Given the description of an element on the screen output the (x, y) to click on. 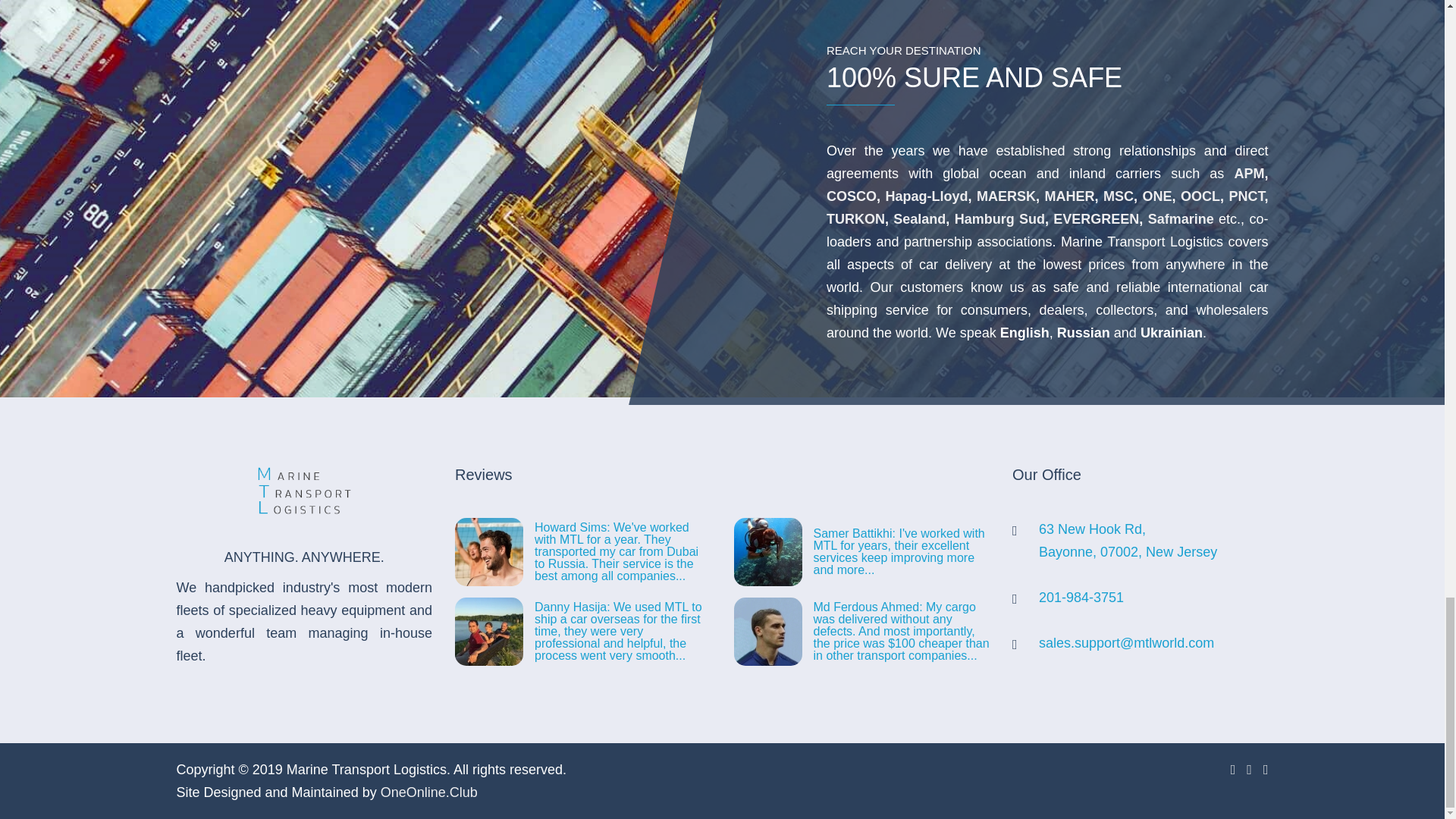
TURKON (856, 218)
OOCL (1200, 196)
EVERGREEN (1095, 218)
5 star review about MTL (622, 631)
COSCO (1128, 540)
MTL provides the best global forwarding services (851, 196)
MTL is the best shipping company in the US (901, 631)
Hamburg Sud (901, 551)
Positive review about Marine Transport Logistics (1000, 218)
